Given the description of an element on the screen output the (x, y) to click on. 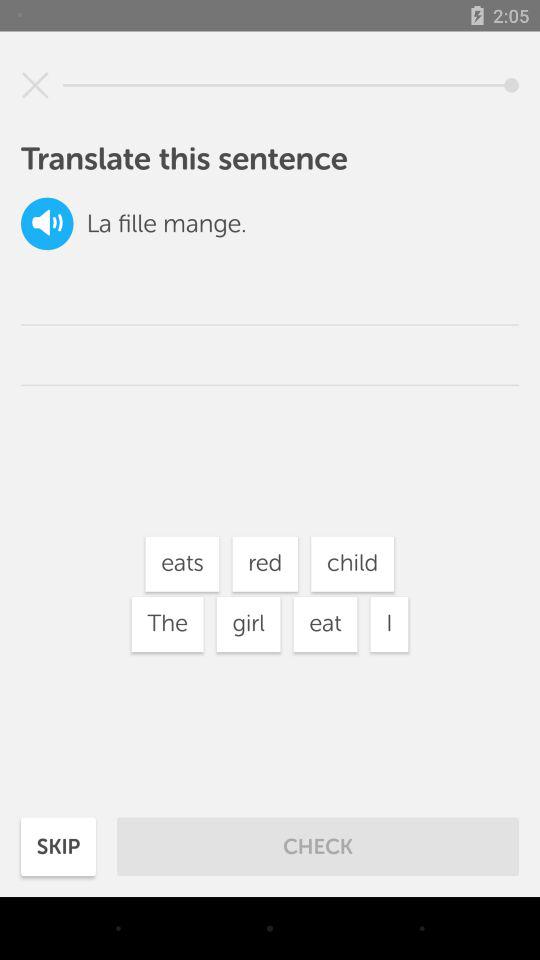
turn on icon above the the item (182, 563)
